Given the description of an element on the screen output the (x, y) to click on. 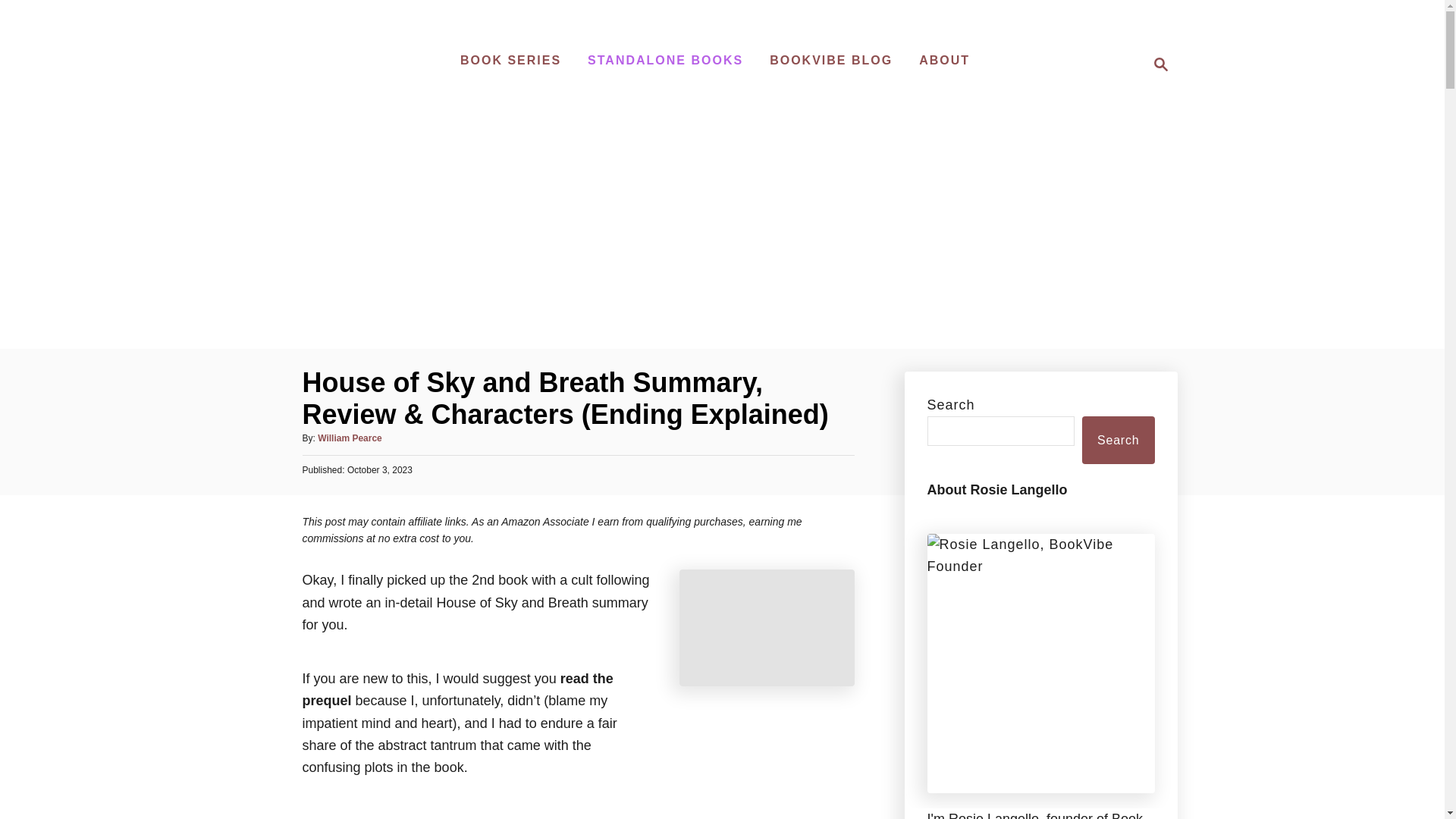
BOOKVIBE BLOG (1155, 64)
Magnifying Glass (830, 60)
BOOK SERIES (1160, 64)
STANDALONE BOOKS (510, 60)
William Pearce (665, 60)
ABOUT (349, 438)
Search (943, 60)
